Given the description of an element on the screen output the (x, y) to click on. 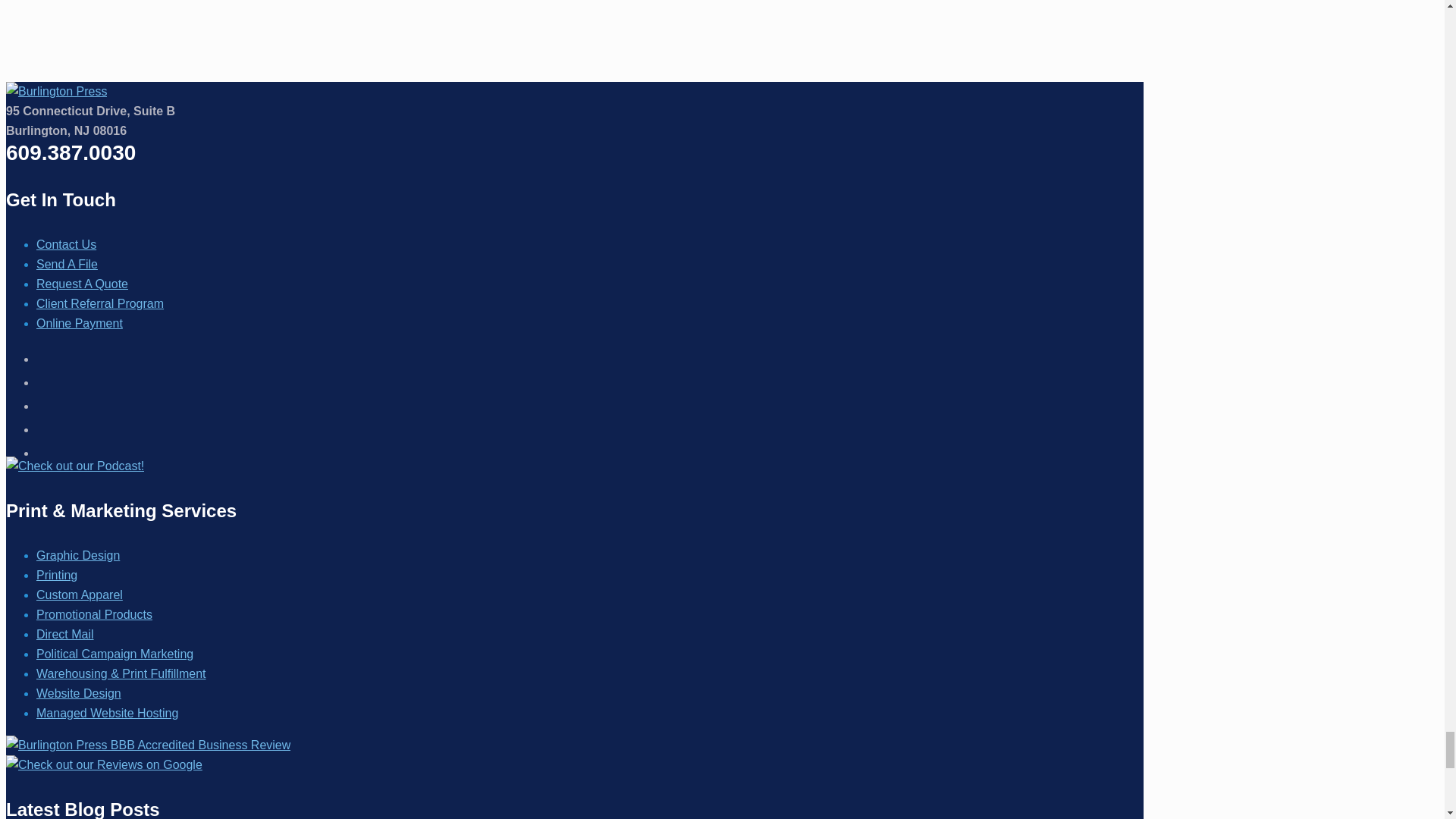
Check out our Reviews on Google (103, 764)
Check out our Podcast! (74, 465)
Burlington Press (55, 91)
Burlington Press BBB Accredited Business Review (147, 745)
